Given the description of an element on the screen output the (x, y) to click on. 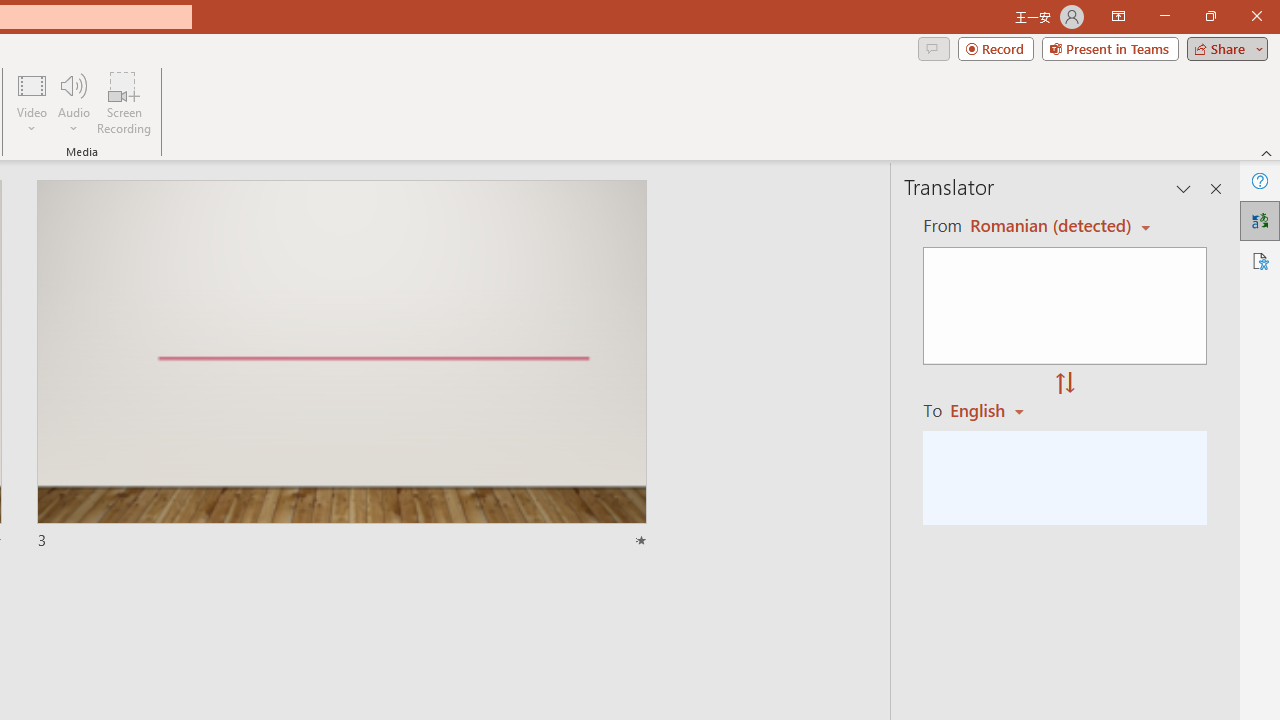
Czech (detected) (1047, 225)
